Given the description of an element on the screen output the (x, y) to click on. 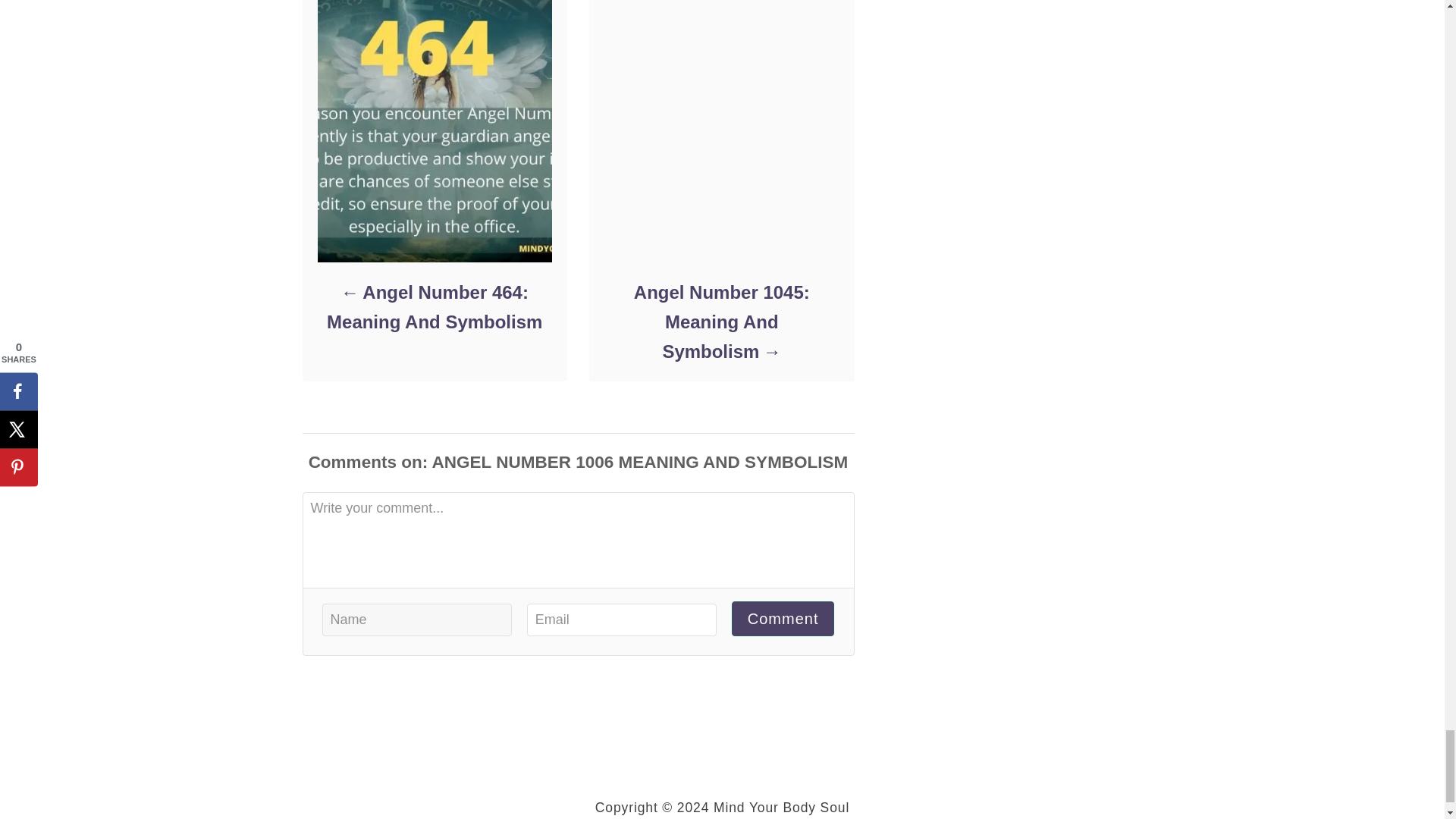
Angel Number 464: Meaning And Symbolism (434, 306)
Comment (783, 619)
Angel Number 1045: Meaning And Symbolism (721, 321)
